Given the description of an element on the screen output the (x, y) to click on. 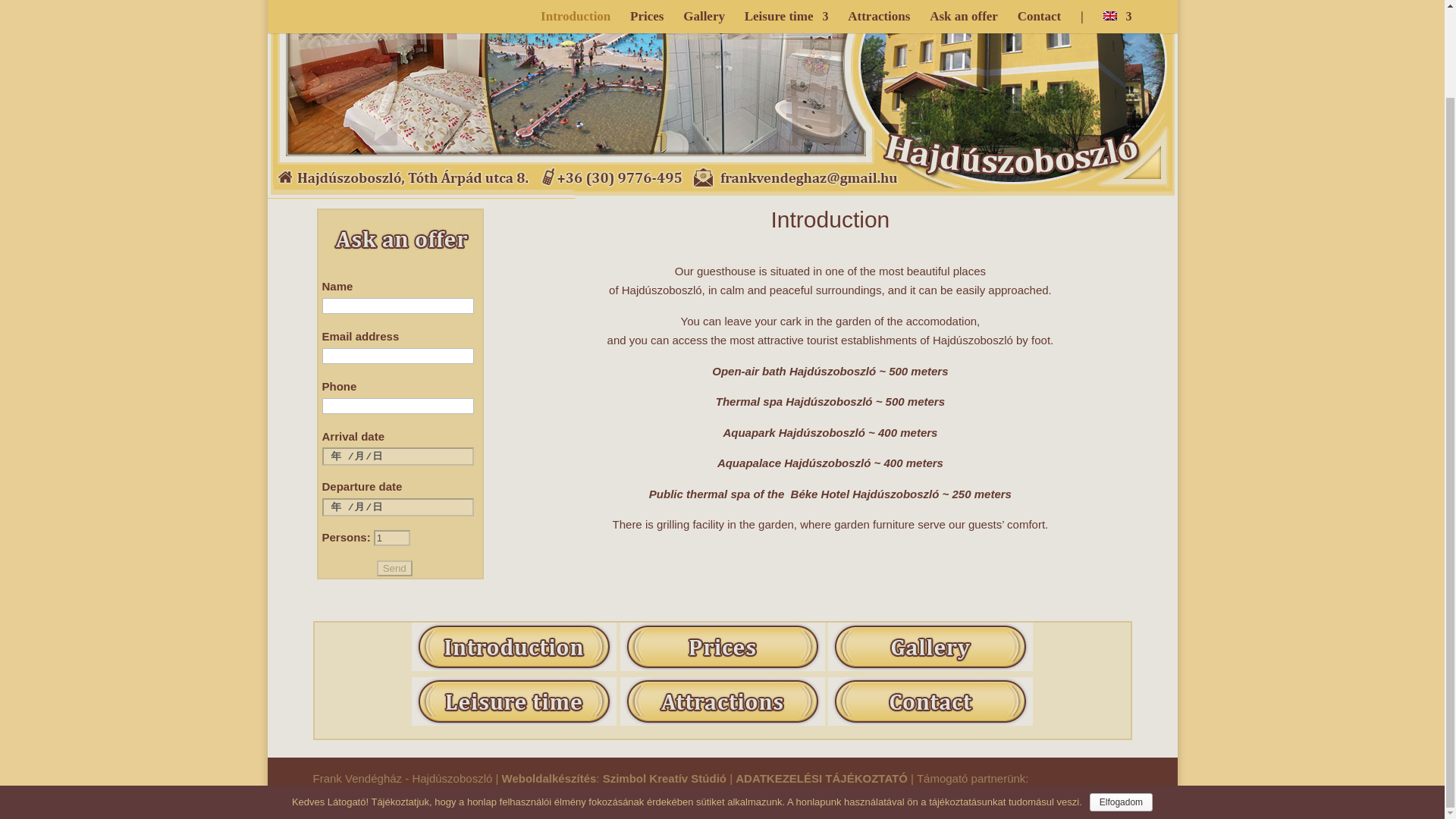
1 (392, 537)
Send (394, 568)
Send (394, 568)
